Given the description of an element on the screen output the (x, y) to click on. 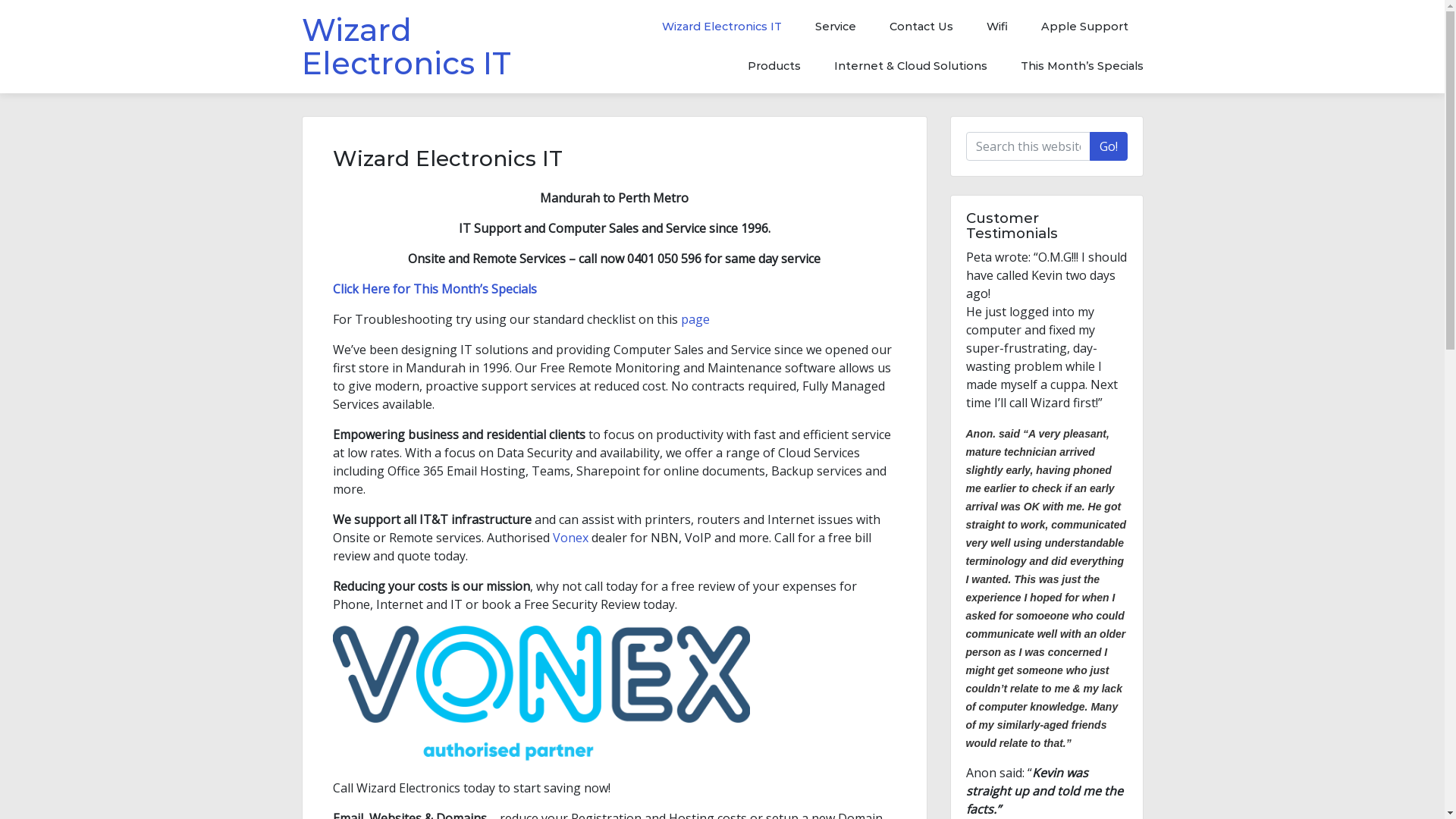
page Element type: text (694, 318)
Go! Element type: text (1107, 145)
Vonex Element type: text (571, 537)
Products Element type: text (773, 66)
Service Element type: text (834, 27)
Contact Us Element type: text (920, 27)
Wizard Electronics IT Element type: text (406, 46)
Wizard Electronics IT Element type: text (723, 27)
Internet & Cloud Solutions Element type: text (910, 66)
Apple Support Element type: text (1083, 27)
Wifi Element type: text (996, 27)
